Given the description of an element on the screen output the (x, y) to click on. 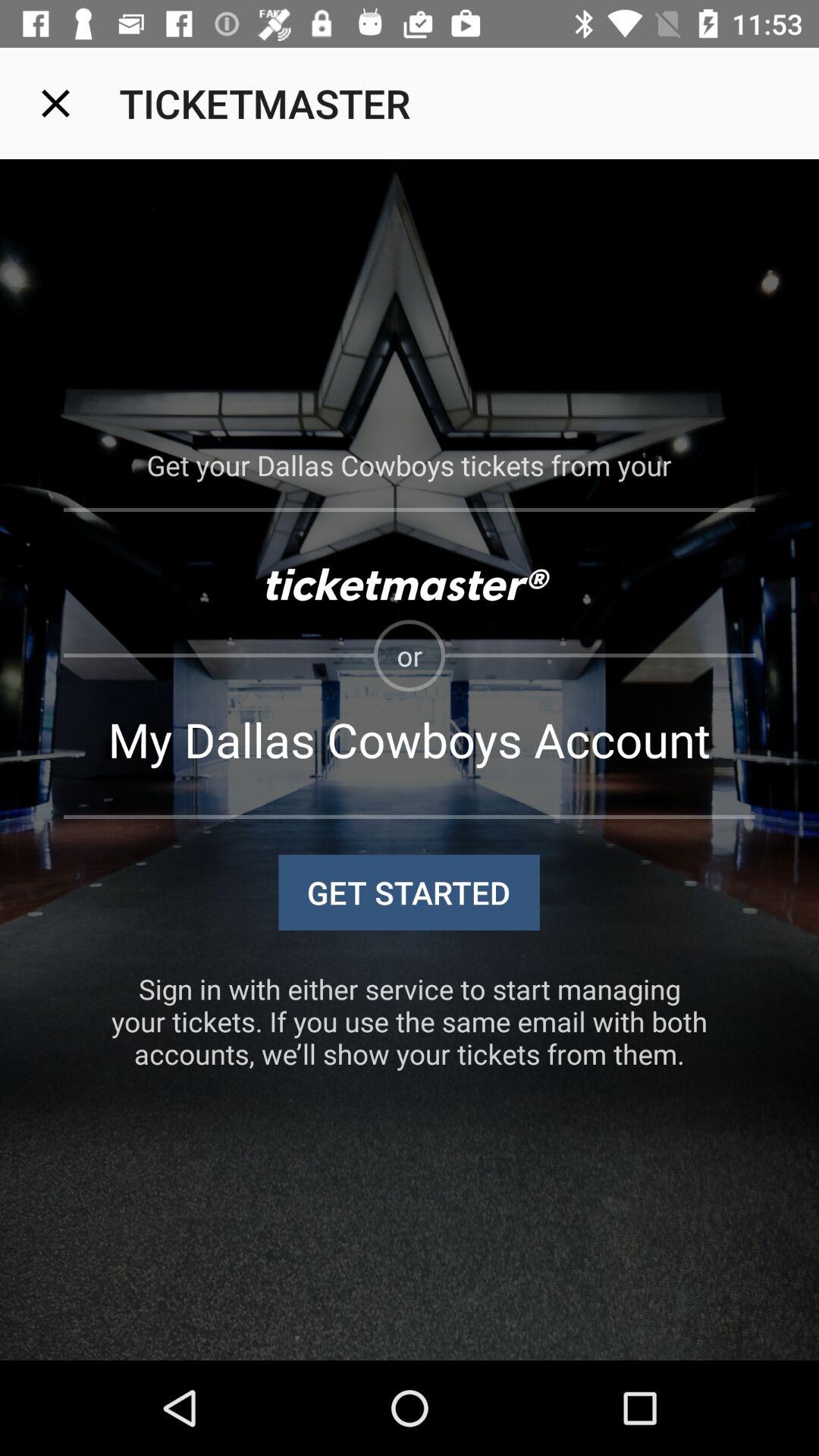
close the window (55, 103)
